Given the description of an element on the screen output the (x, y) to click on. 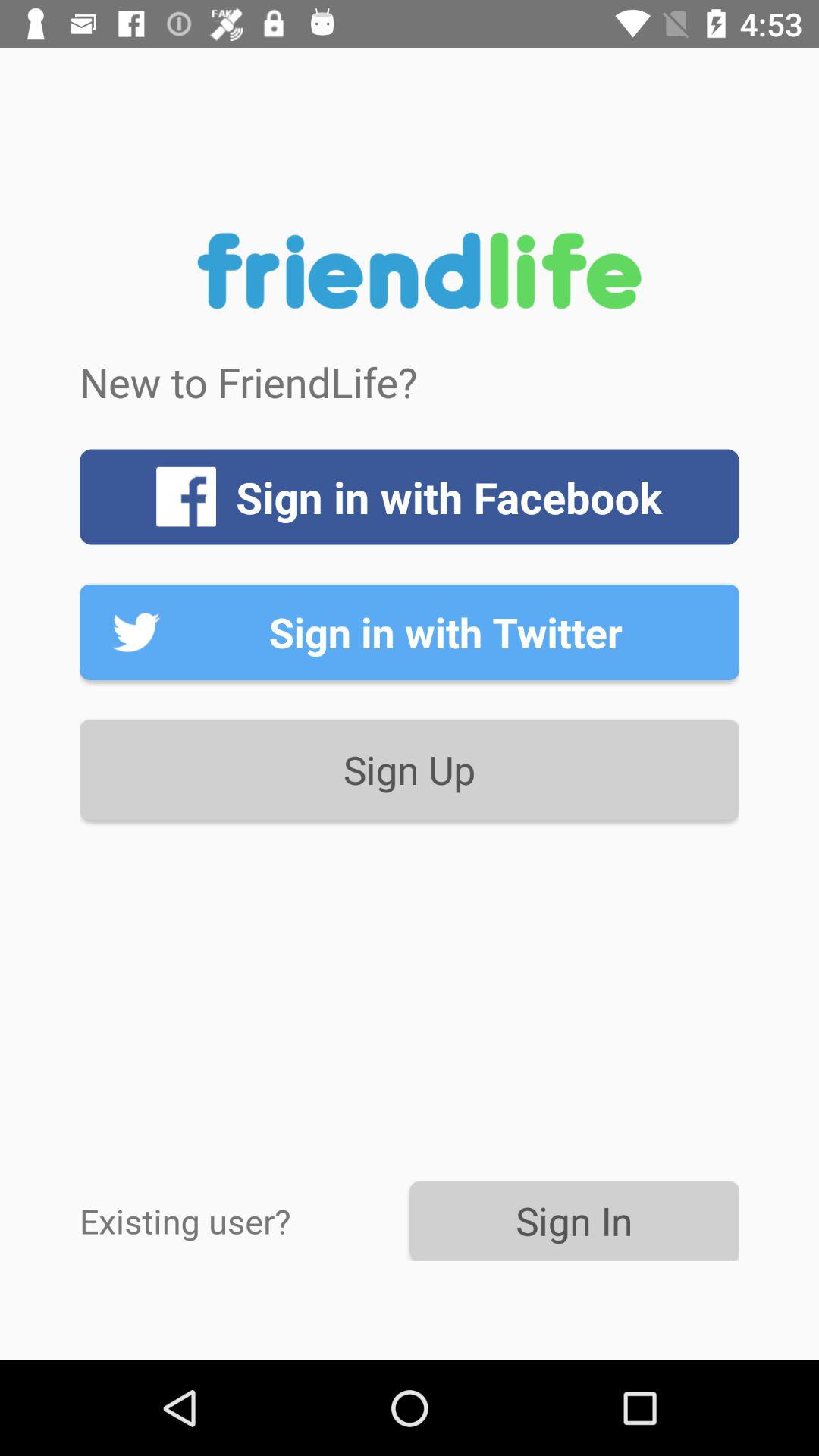
scroll to sign up (409, 769)
